Given the description of an element on the screen output the (x, y) to click on. 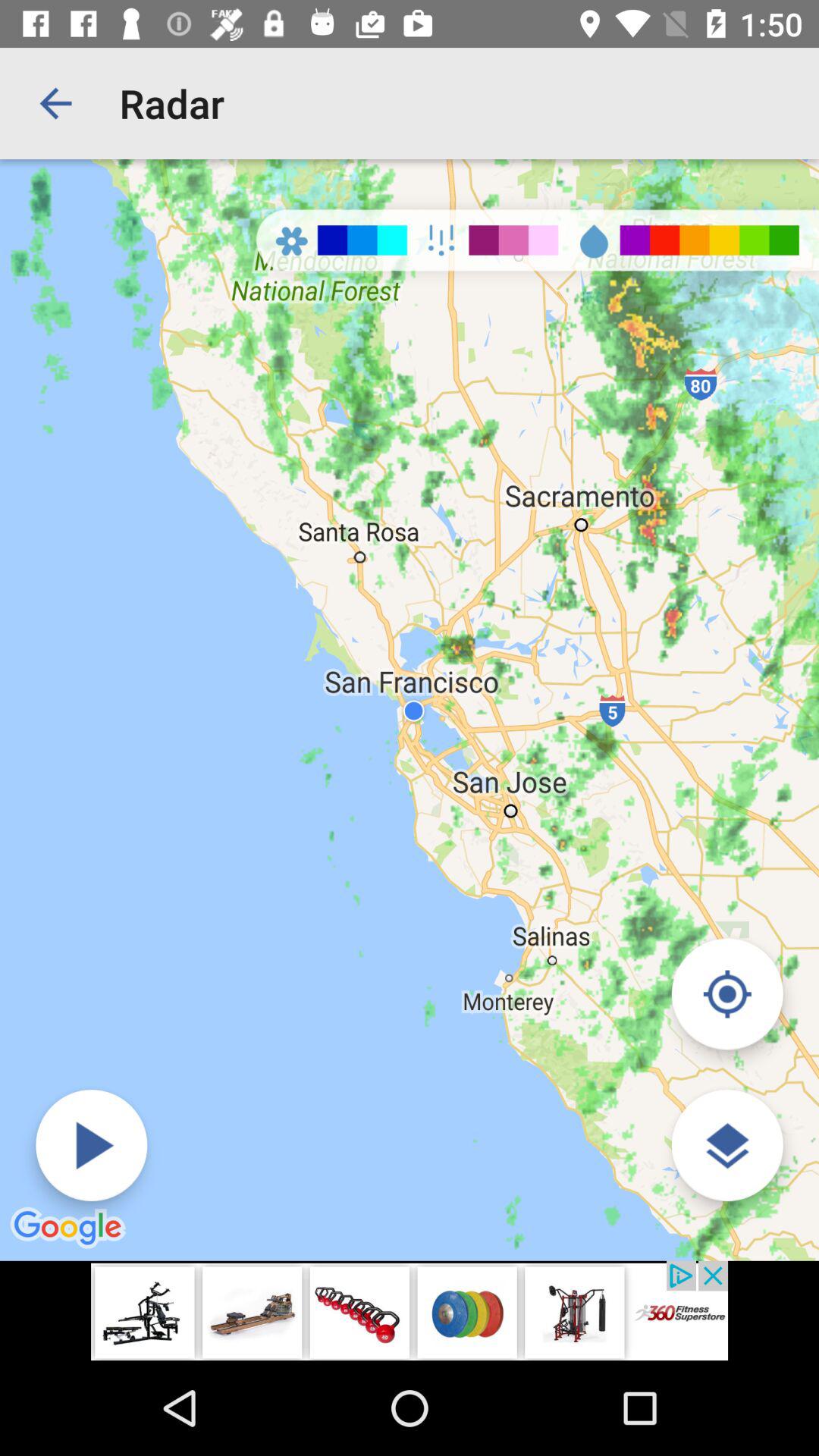
switch (91, 1145)
